Given the description of an element on the screen output the (x, y) to click on. 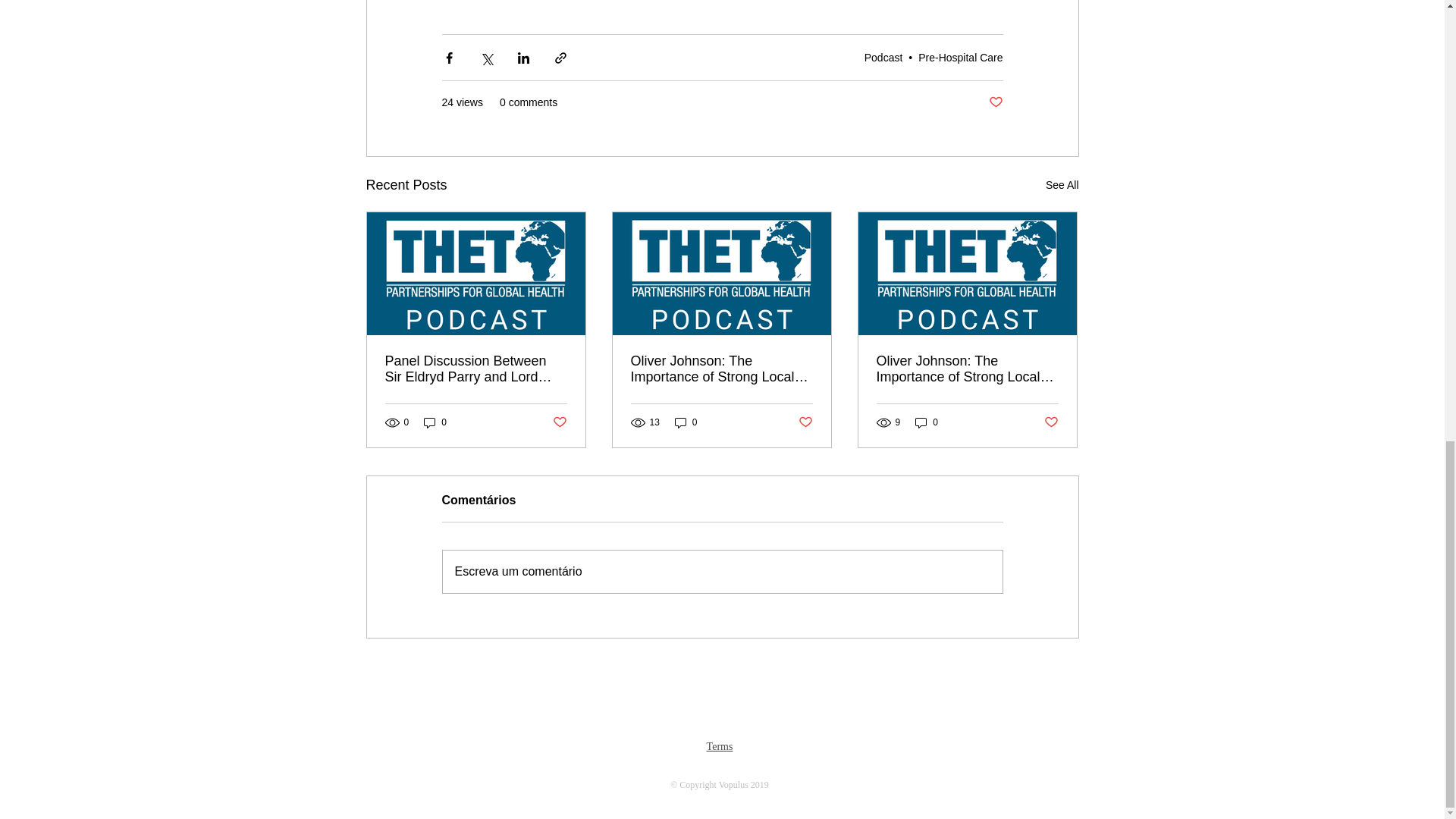
Post not marked as liked (995, 102)
Podcast (883, 57)
0 (435, 422)
Post not marked as liked (558, 421)
See All (1061, 185)
Pre-Hospital Care (960, 57)
